Given the description of an element on the screen output the (x, y) to click on. 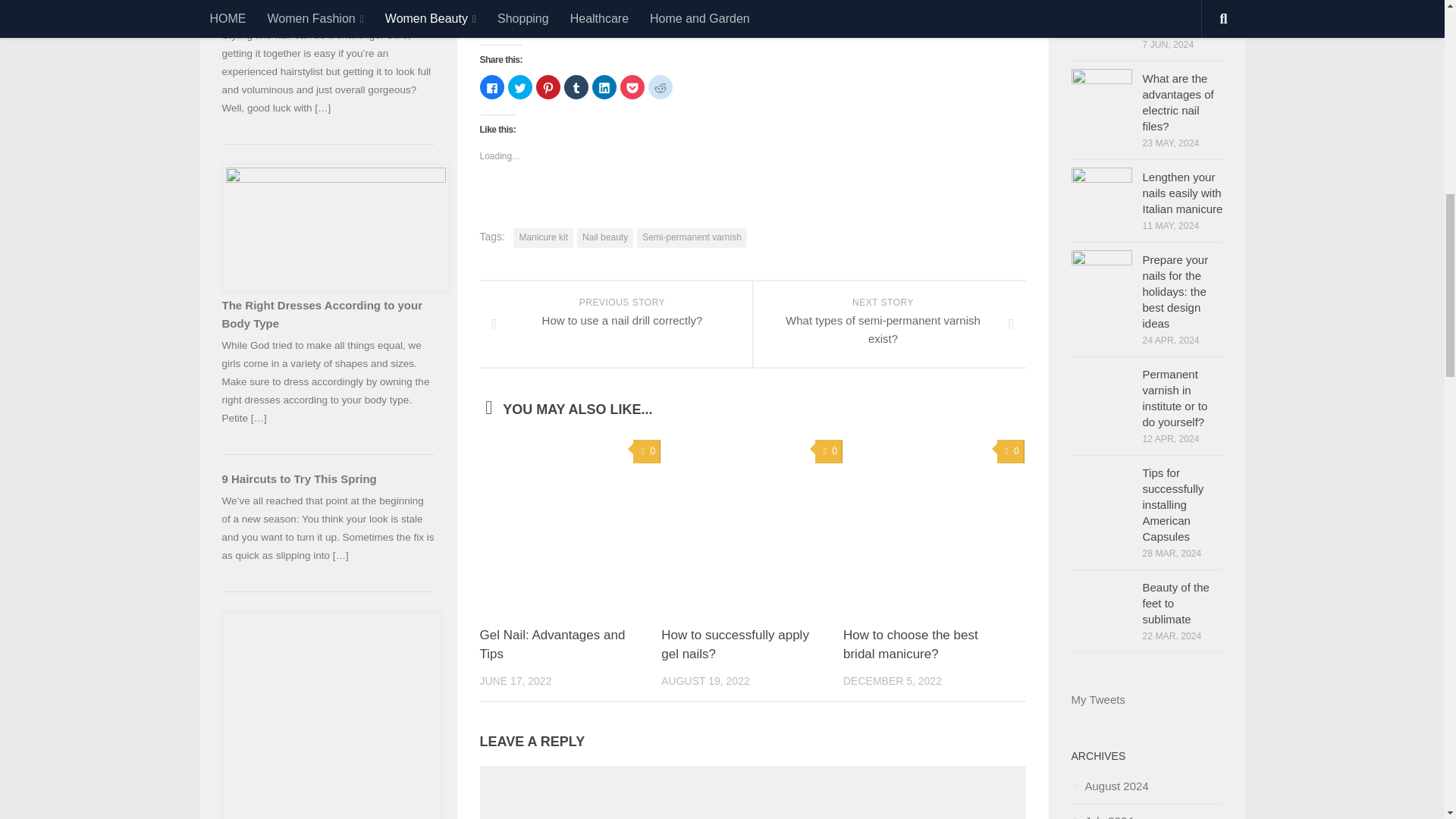
Click to share on LinkedIn (603, 87)
Click to share on Pocket (632, 87)
Click to share on Reddit (659, 87)
Click to share on Facebook (491, 87)
Click to share on Twitter (520, 87)
Permalink to Gel Nail: Advantages and Tips (551, 644)
How to apply the semi-permanent varnish yourself? (720, 19)
Click to share on Tumblr (576, 87)
Permalink to How to successfully apply gel nails? (735, 644)
Click to share on Pinterest (547, 87)
